Given the description of an element on the screen output the (x, y) to click on. 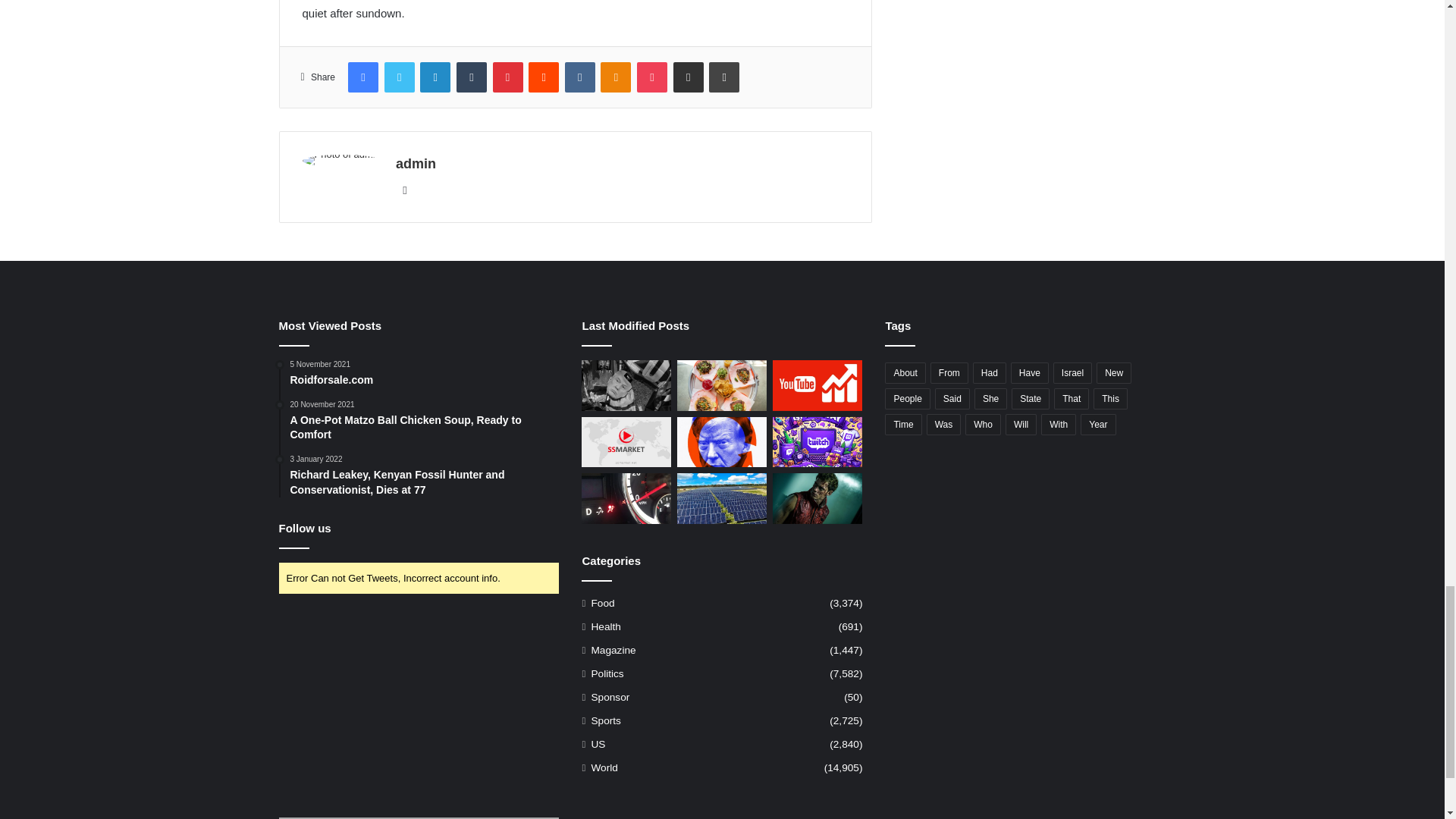
Facebook (362, 77)
LinkedIn (434, 77)
VKontakte (579, 77)
Twitter (399, 77)
Odnoklassniki (614, 77)
Reddit (543, 77)
Tumblr (471, 77)
Pinterest (507, 77)
